Given the description of an element on the screen output the (x, y) to click on. 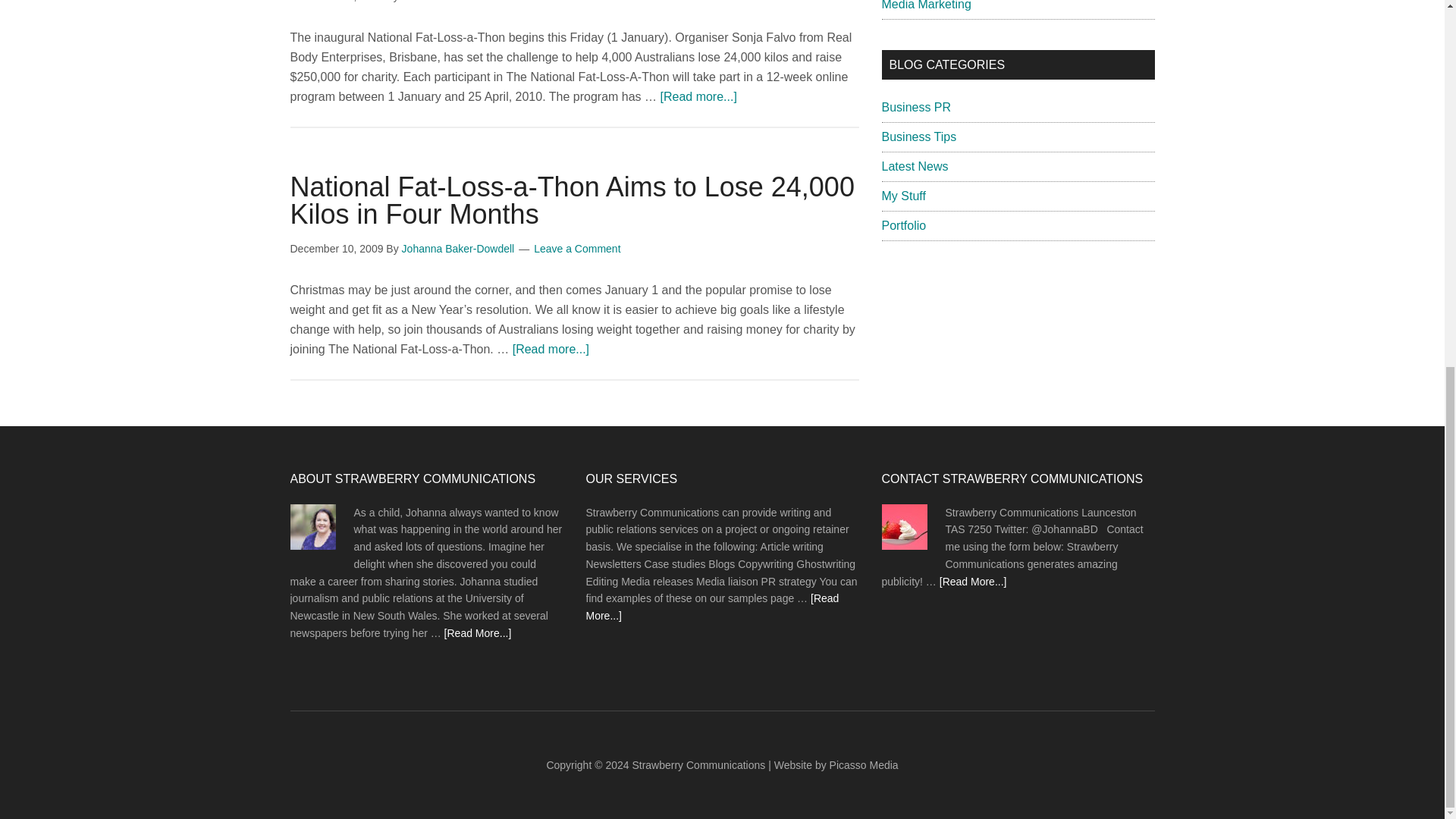
Business Tips (918, 136)
Business PR (915, 106)
Johanna Baker-Dowdell (458, 1)
Latest News (913, 165)
Johanna Baker-Dowdell (458, 248)
Leave a Comment (577, 248)
Leave a Comment (577, 1)
small business website design (863, 765)
